Given the description of an element on the screen output the (x, y) to click on. 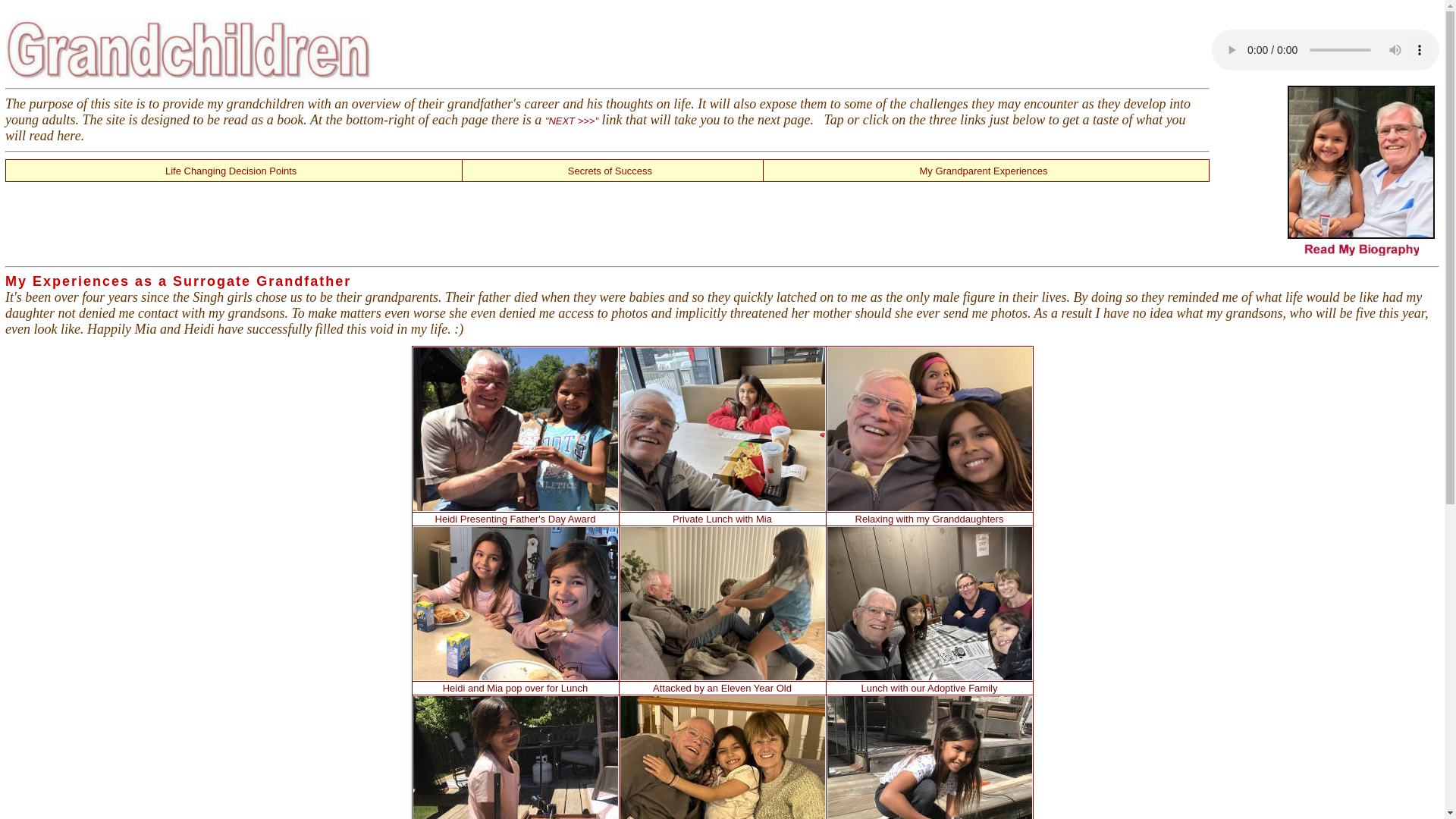
Read About My Grandparent Experiences (982, 170)
My Grandparent Experiences (982, 170)
Life Changing Decision Points (231, 170)
Secrets of Success (609, 170)
Read My Abbreviated Biography (1361, 251)
Read About the Secrets of Success (609, 170)
How to Best Use this Site (573, 120)
